Given the description of an element on the screen output the (x, y) to click on. 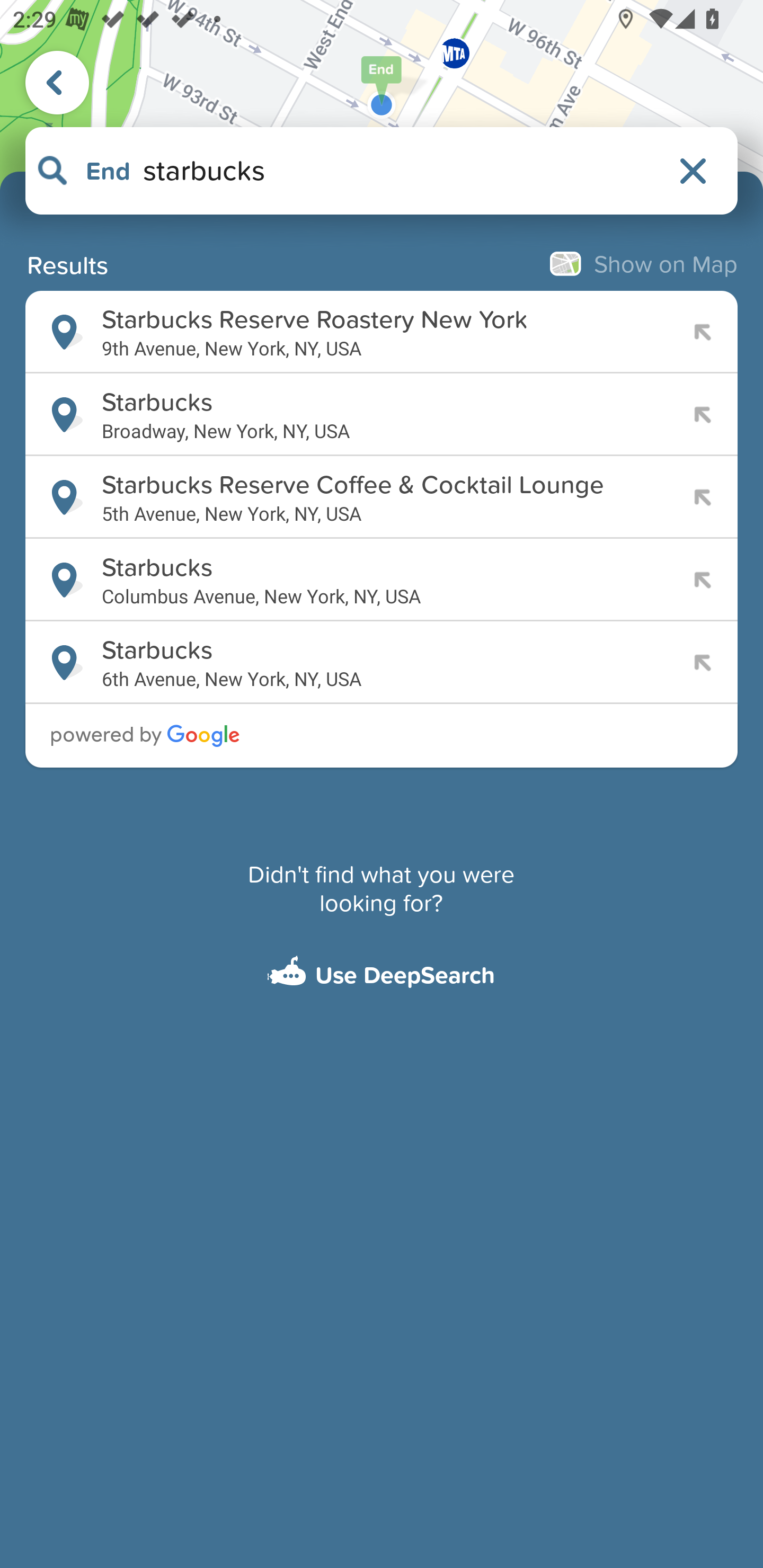
Results Show on Map (381, 263)
